Given the description of an element on the screen output the (x, y) to click on. 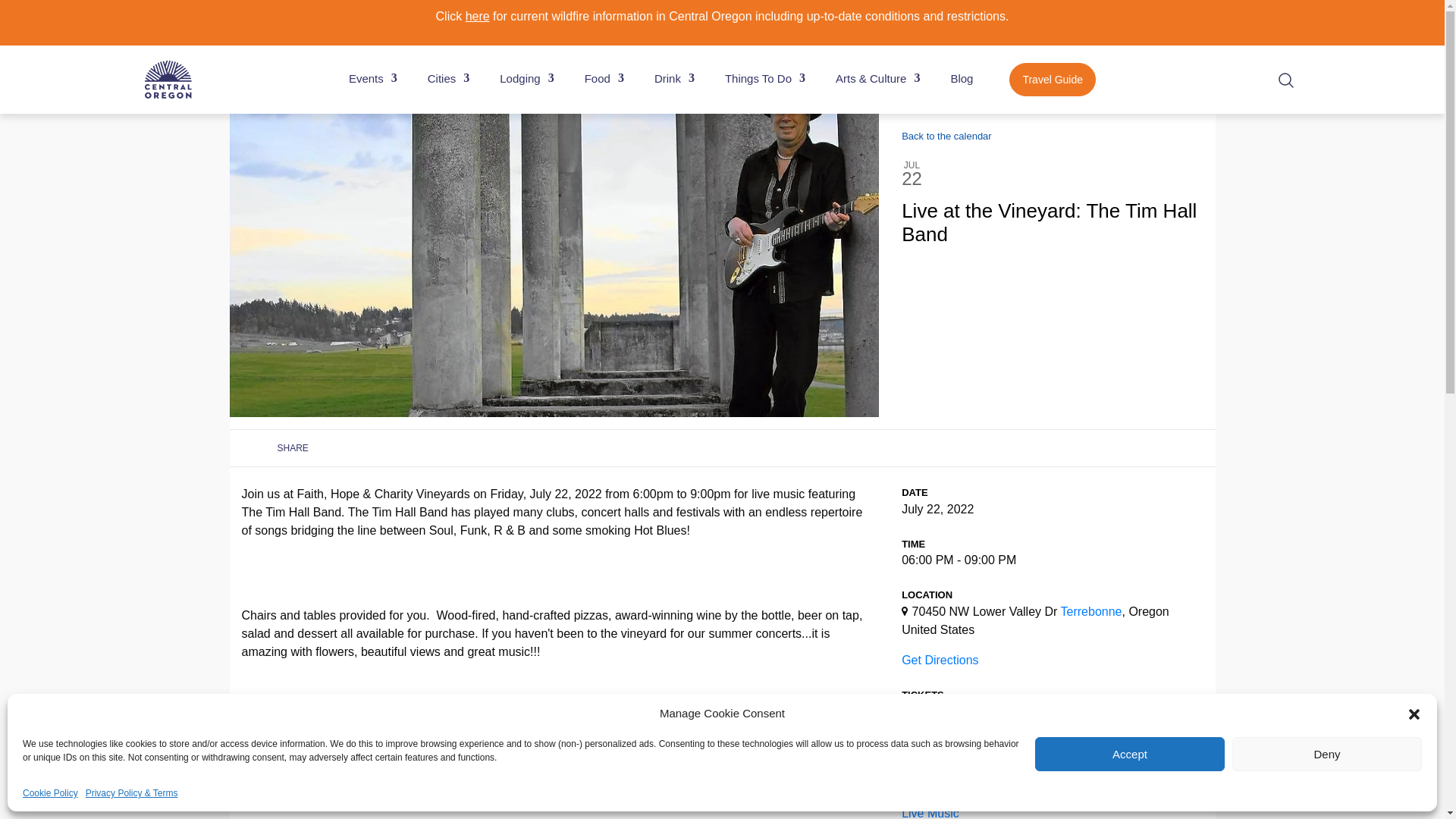
Deny (1326, 754)
Central Oregon Fire (477, 15)
Cookie Policy (50, 793)
Accept (1129, 754)
here (477, 15)
